Given the description of an element on the screen output the (x, y) to click on. 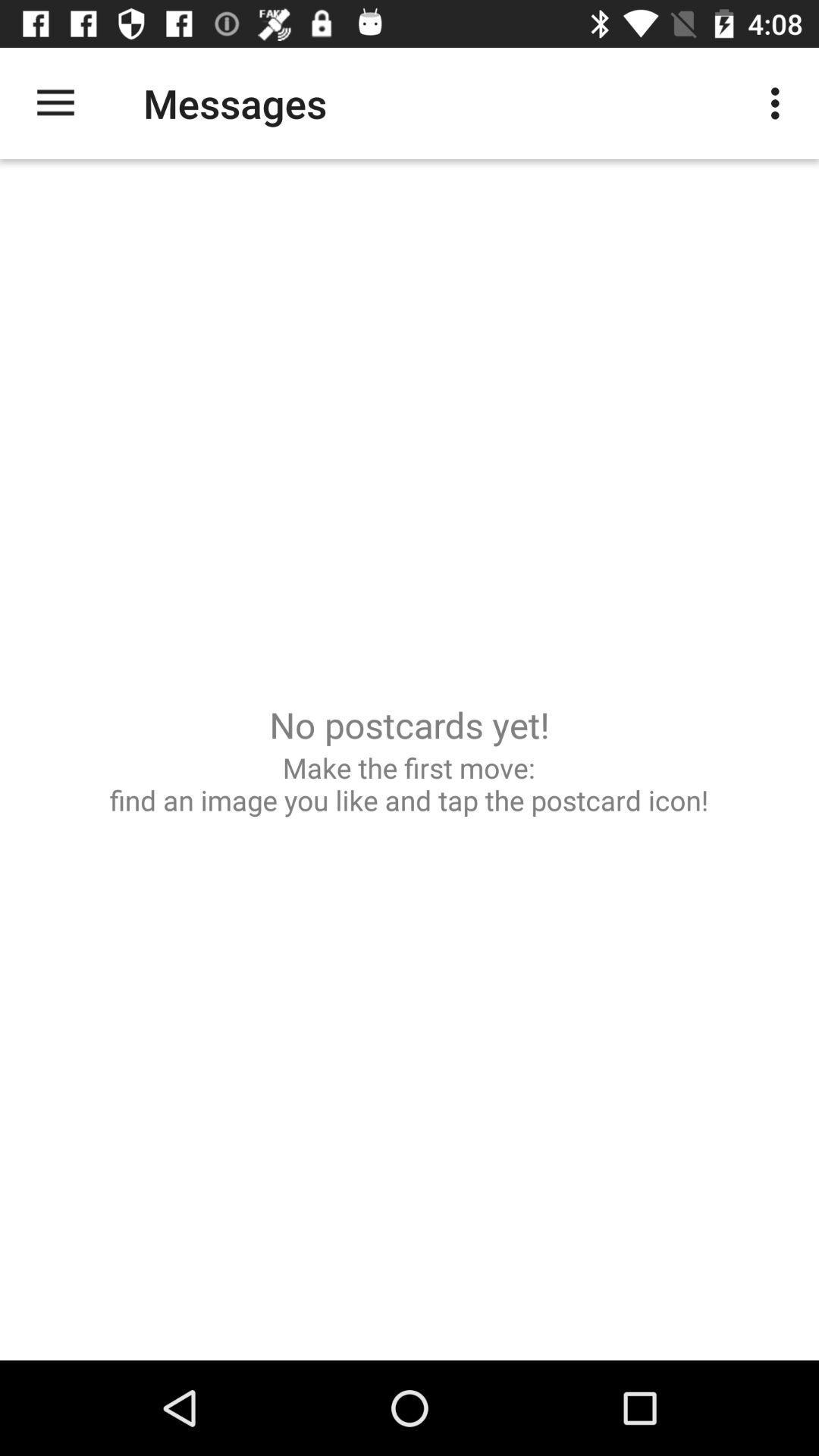
click icon next to the messages (55, 103)
